Given the description of an element on the screen output the (x, y) to click on. 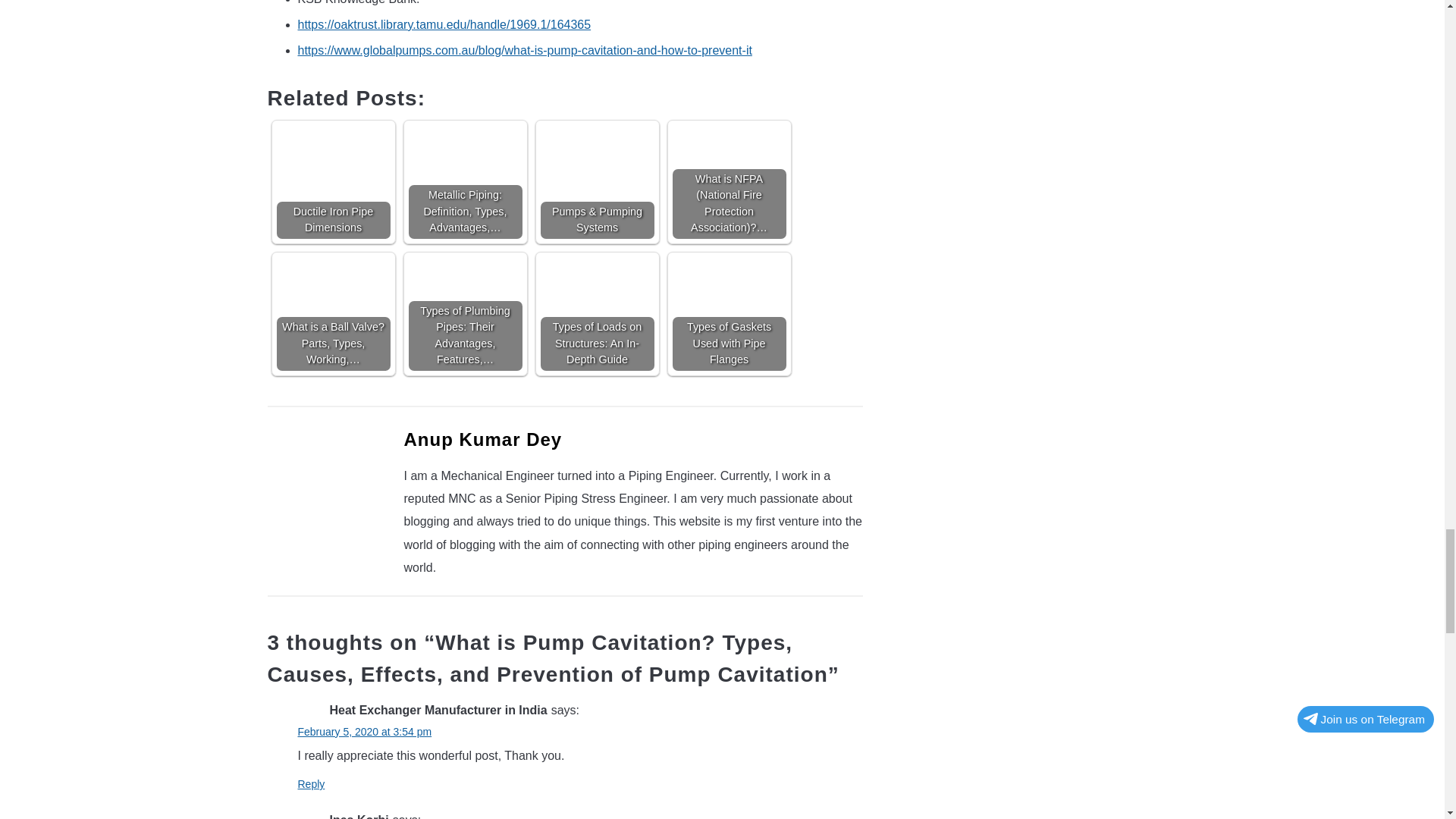
Types of Gaskets Used with Pipe Flanges (728, 314)
Types of Loads on Structures: An In-Depth Guide (596, 280)
Ductile Iron Pipe Dimensions (333, 157)
